Given the description of an element on the screen output the (x, y) to click on. 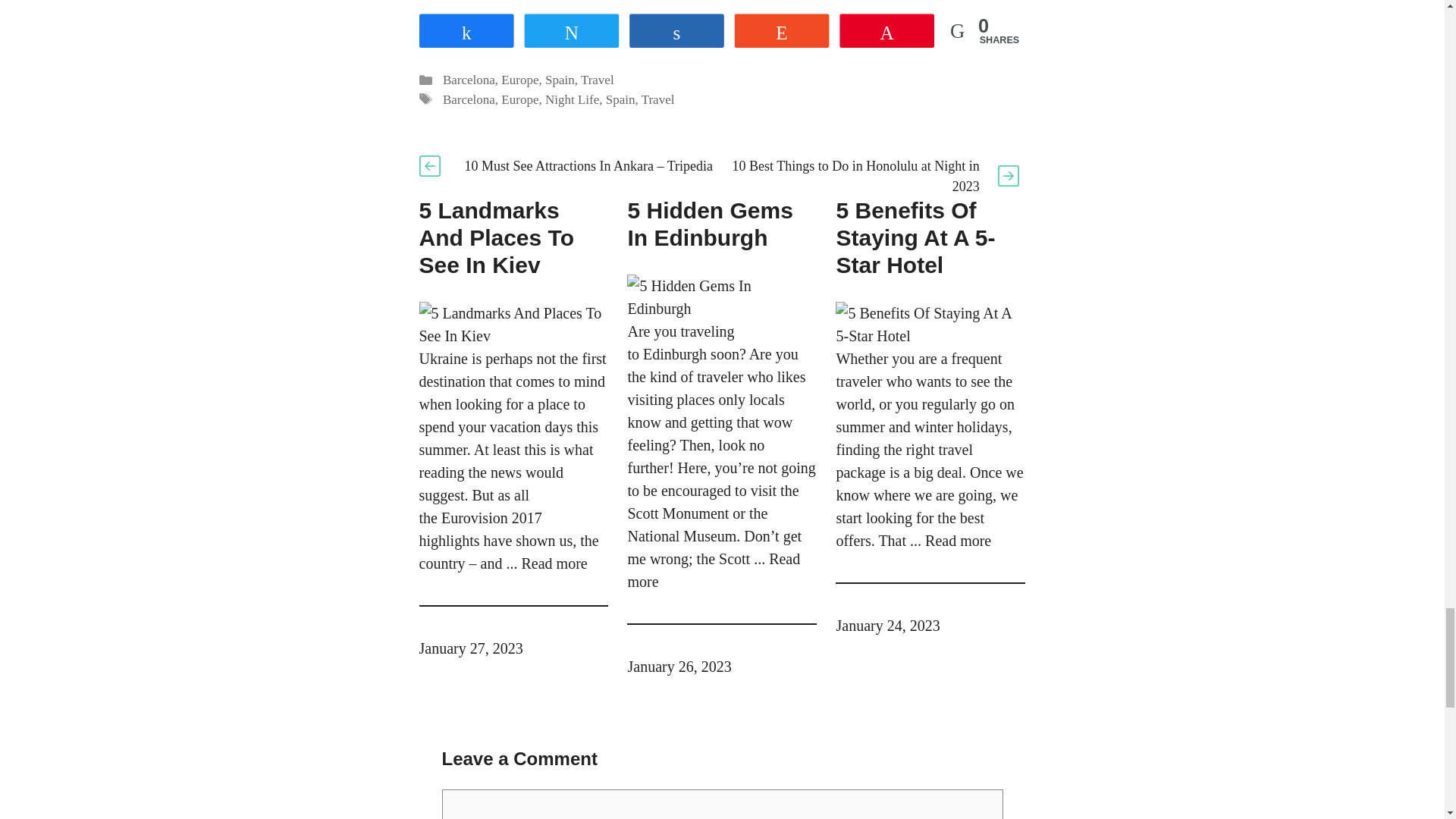
5 Hidden Gems In Edinburgh (713, 569)
5 Landmarks And Places To See In Kiev (553, 563)
5 Benefits Of Staying At A 5-Star Hotel (957, 540)
